Given the description of an element on the screen output the (x, y) to click on. 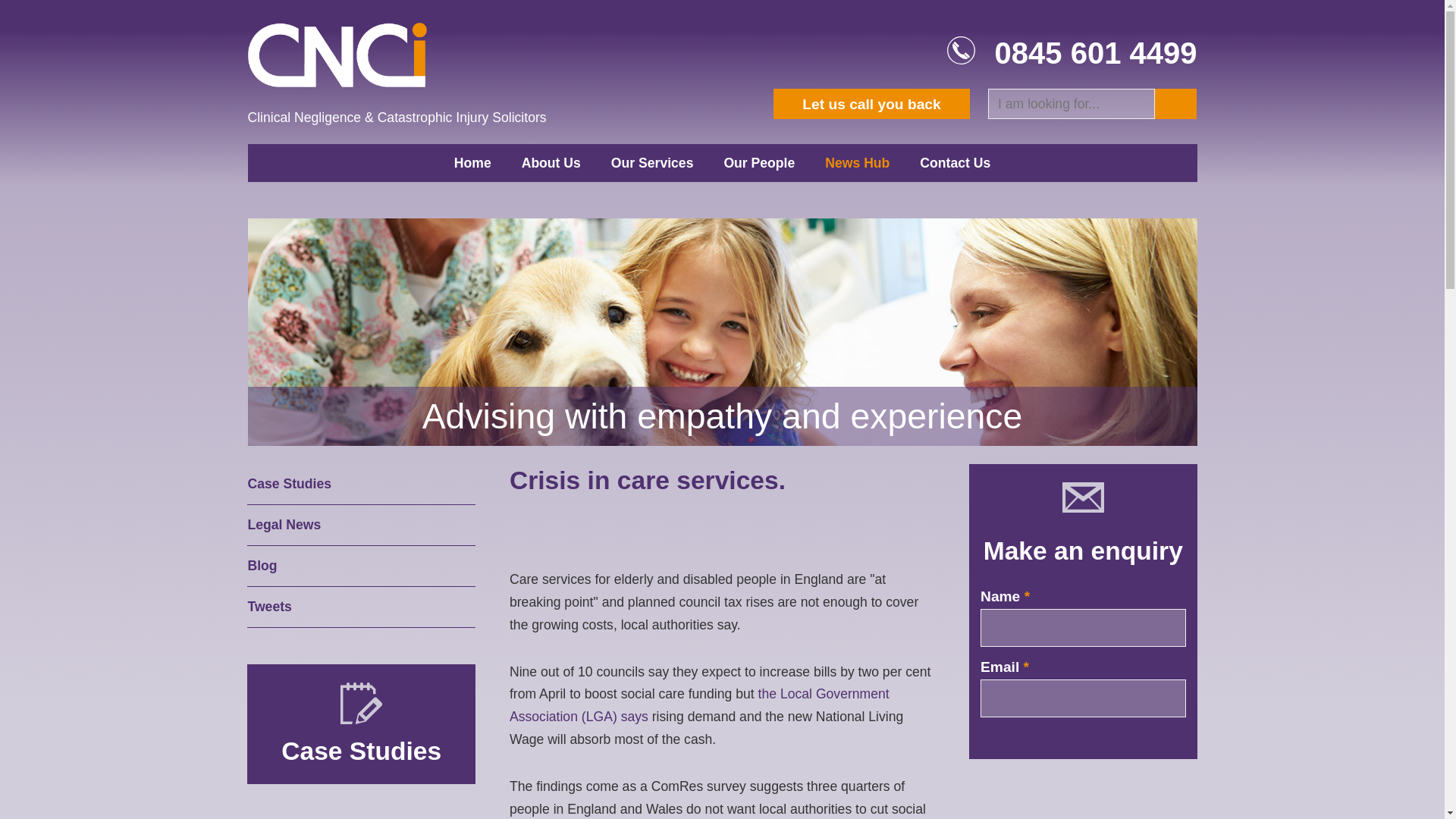
Make an enquiry (1083, 551)
Case Studies (360, 484)
Let us call you back (871, 103)
Blog (360, 566)
Home (472, 162)
0845 601 4499 (1095, 52)
About Us (550, 162)
News Hub (856, 162)
Case Studies (361, 751)
Our Services (652, 162)
Our People (758, 162)
Contact Us (955, 162)
Legal News (360, 525)
Tweets (360, 607)
